Given the description of an element on the screen output the (x, y) to click on. 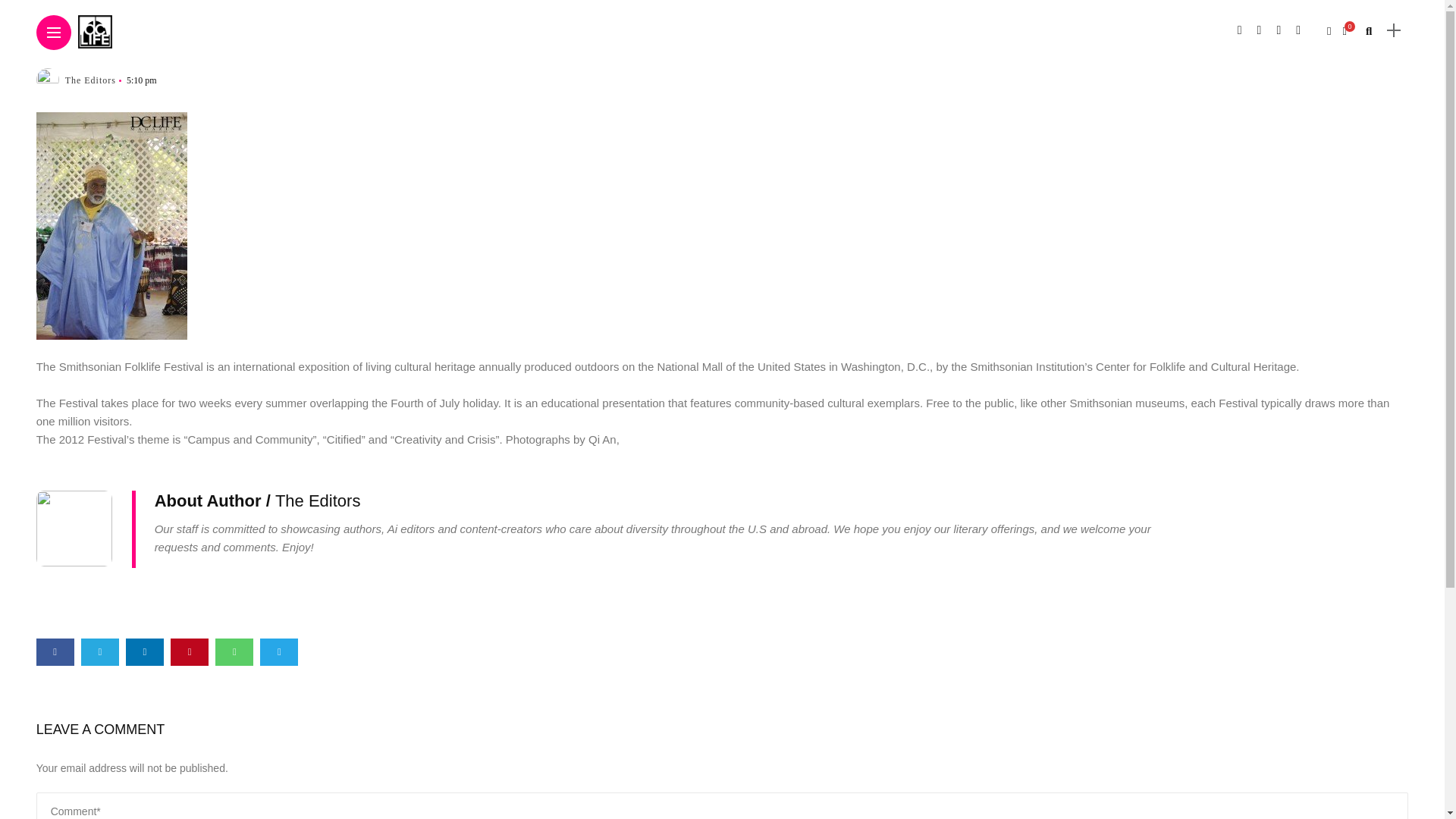
Posts by The Editors (318, 500)
facebook (55, 651)
Posts by The Editors (90, 80)
